Given the description of an element on the screen output the (x, y) to click on. 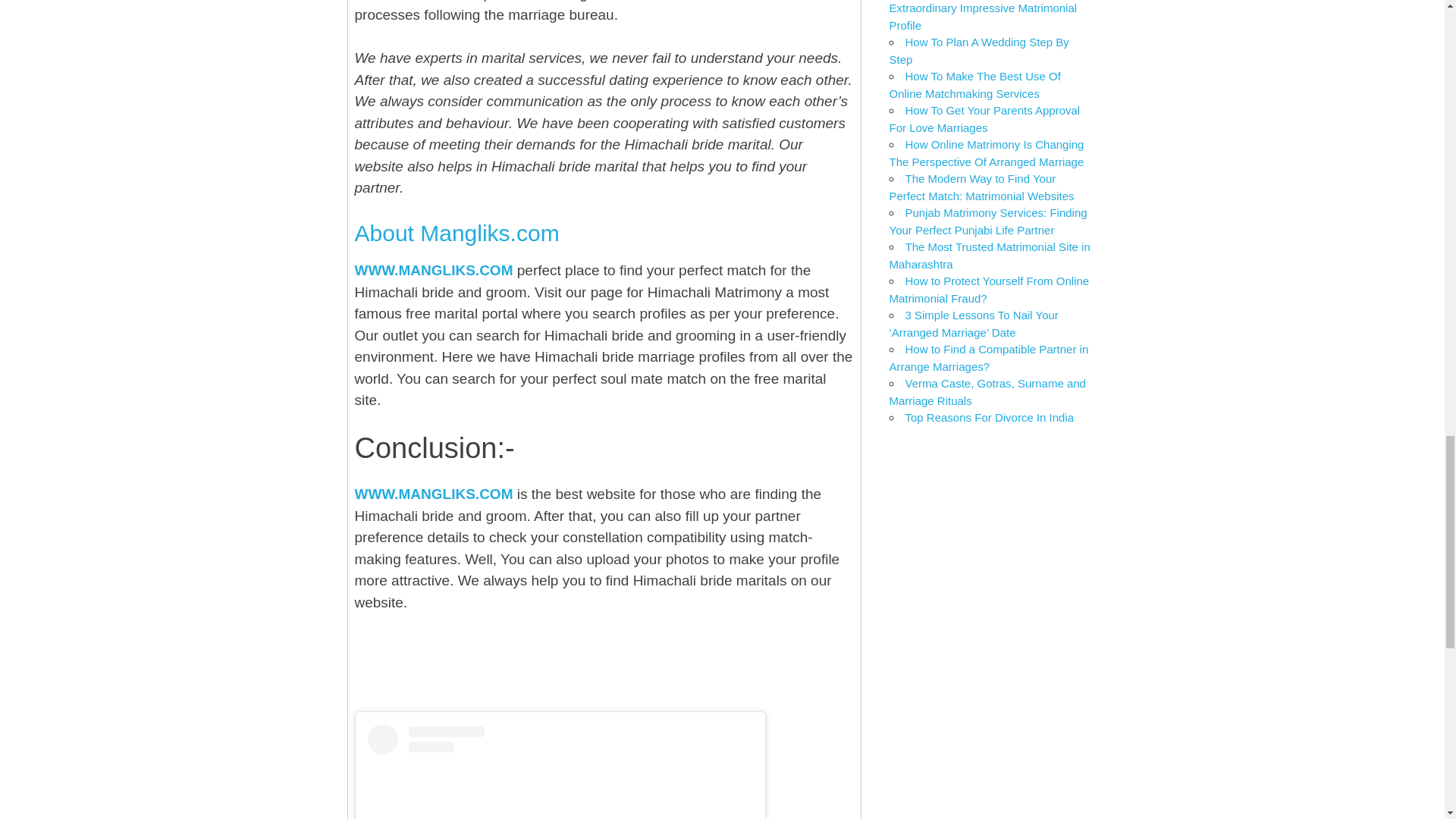
WWW.MANGLIKS.COM (434, 494)
WWW.MANGLIKS.COM (434, 270)
View this post on Instagram (559, 771)
About Mangliks.com (457, 232)
